Given the description of an element on the screen output the (x, y) to click on. 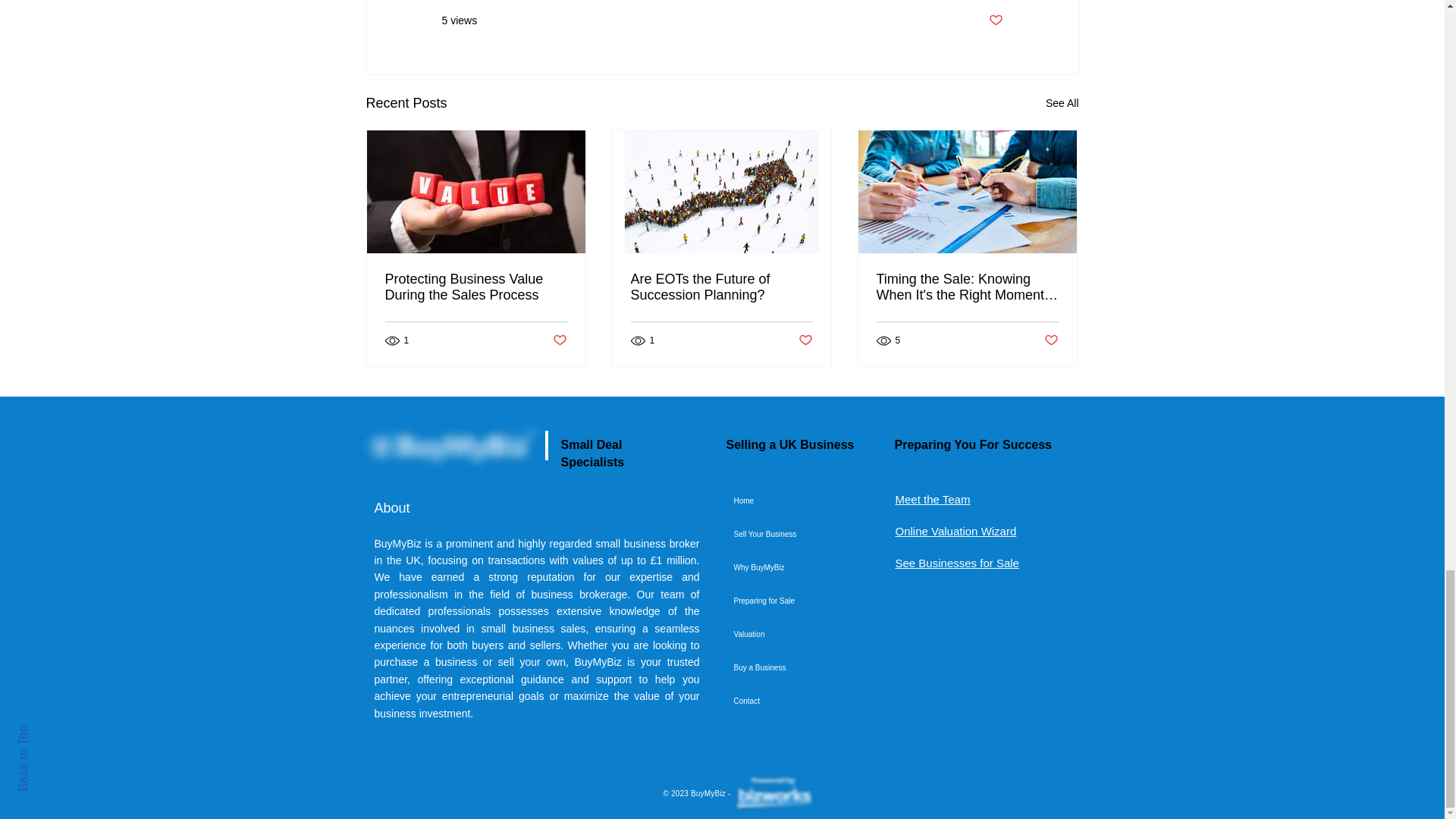
Post not marked as liked (1050, 340)
Protecting Business Value During the Sales Process (476, 287)
Post not marked as liked (558, 340)
Post not marked as liked (995, 20)
See All (1061, 103)
Are EOTs the Future of Succession Planning? (721, 287)
Post not marked as liked (804, 340)
